Given the description of an element on the screen output the (x, y) to click on. 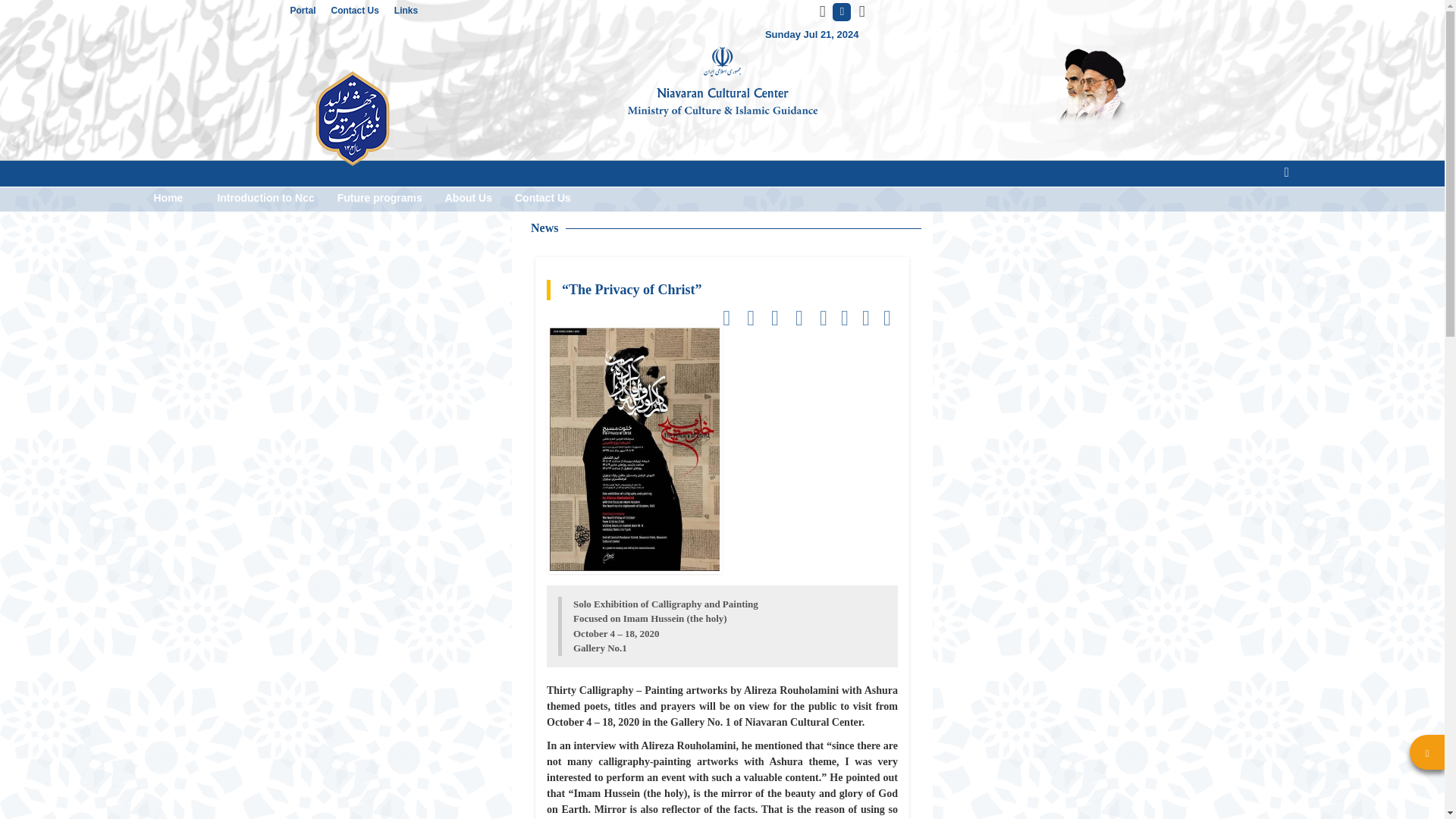
Contact Us (362, 10)
Links (413, 10)
Future programs (379, 197)
Farhang (722, 81)
Home (168, 197)
Zoom In (861, 12)
Contact Us (542, 197)
About Us (468, 197)
Zoom Out (821, 12)
Portal (309, 10)
Introduction to Ncc (264, 197)
